Given the description of an element on the screen output the (x, y) to click on. 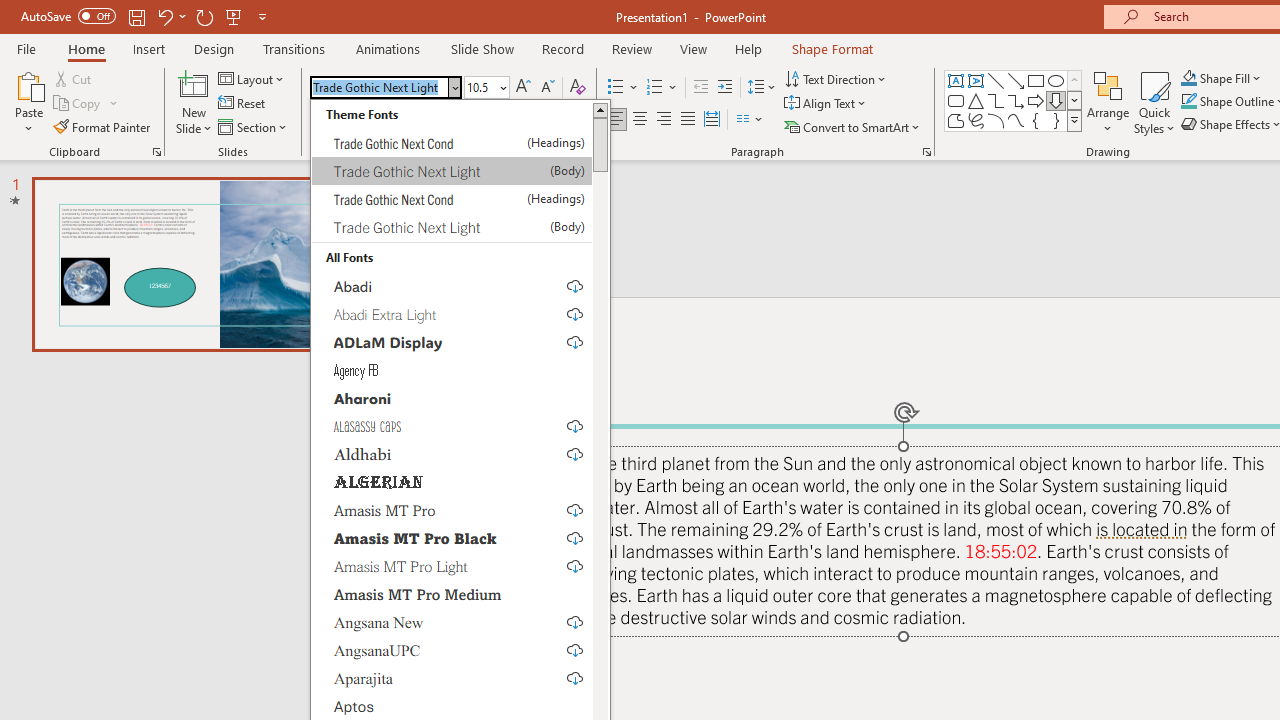
Justify (687, 119)
Right Brace (1055, 120)
Italic (344, 119)
Aparajita, select to download (451, 677)
Numbering (654, 87)
File Tab (26, 48)
Character Spacing (447, 119)
Line (995, 80)
Animations (388, 48)
Line up (600, 109)
Aldhabi, select to download (451, 453)
Arrange (1108, 102)
AutomationID: ShapesInsertGallery (1014, 100)
Freeform: Shape (955, 120)
Aharoni (451, 397)
